Given the description of an element on the screen output the (x, y) to click on. 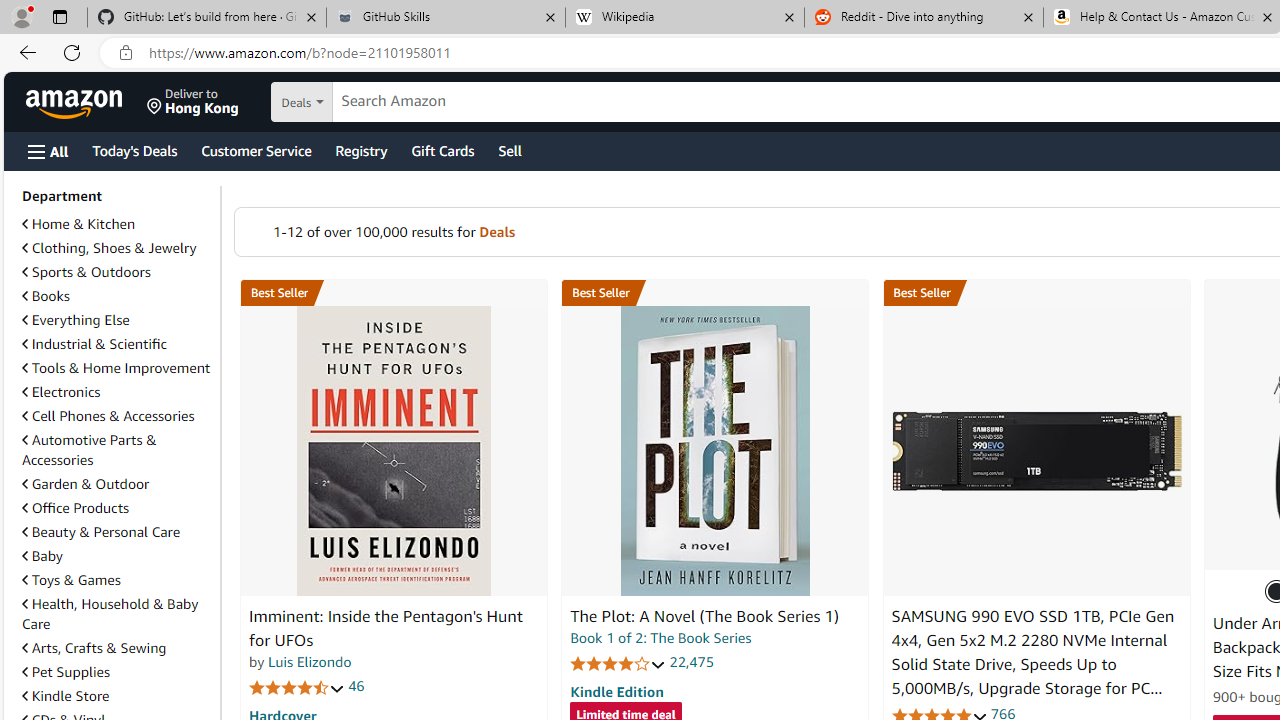
Best Seller in Heist Thrillers (715, 293)
Gift Cards (442, 150)
Clothing, Shoes & Jewelry (109, 248)
Kindle Store (65, 695)
4.7 out of 5 stars (297, 686)
Arts, Crafts & Sewing (93, 647)
Kindle Edition (616, 691)
Best Seller in Unexplained Mysteries (393, 293)
Book 1 of 2: The Book Series (660, 638)
Deliver to Hong Kong (193, 101)
The Plot: A Novel (The Book Series 1) (714, 451)
Imminent: Inside the Pentagon's Hunt for UFOs (386, 628)
Beauty & Personal Care (100, 531)
Automotive Parts & Accessories (117, 449)
